Given the description of an element on the screen output the (x, y) to click on. 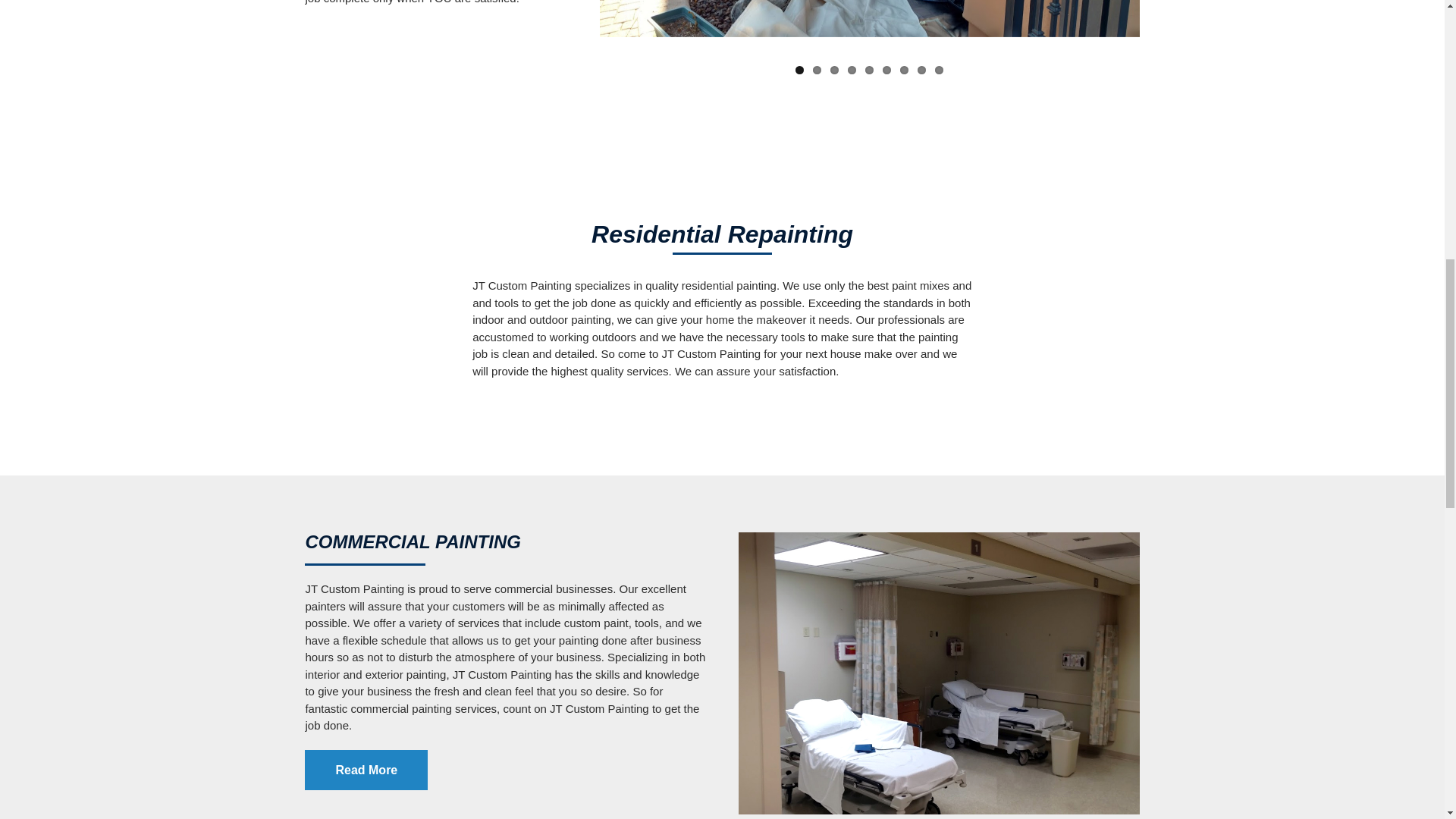
4 (851, 70)
1 (798, 70)
2 (816, 70)
6 (886, 70)
5 (868, 70)
9 (938, 70)
Read More (366, 770)
7 (903, 70)
8 (921, 70)
3 (833, 70)
